Given the description of an element on the screen output the (x, y) to click on. 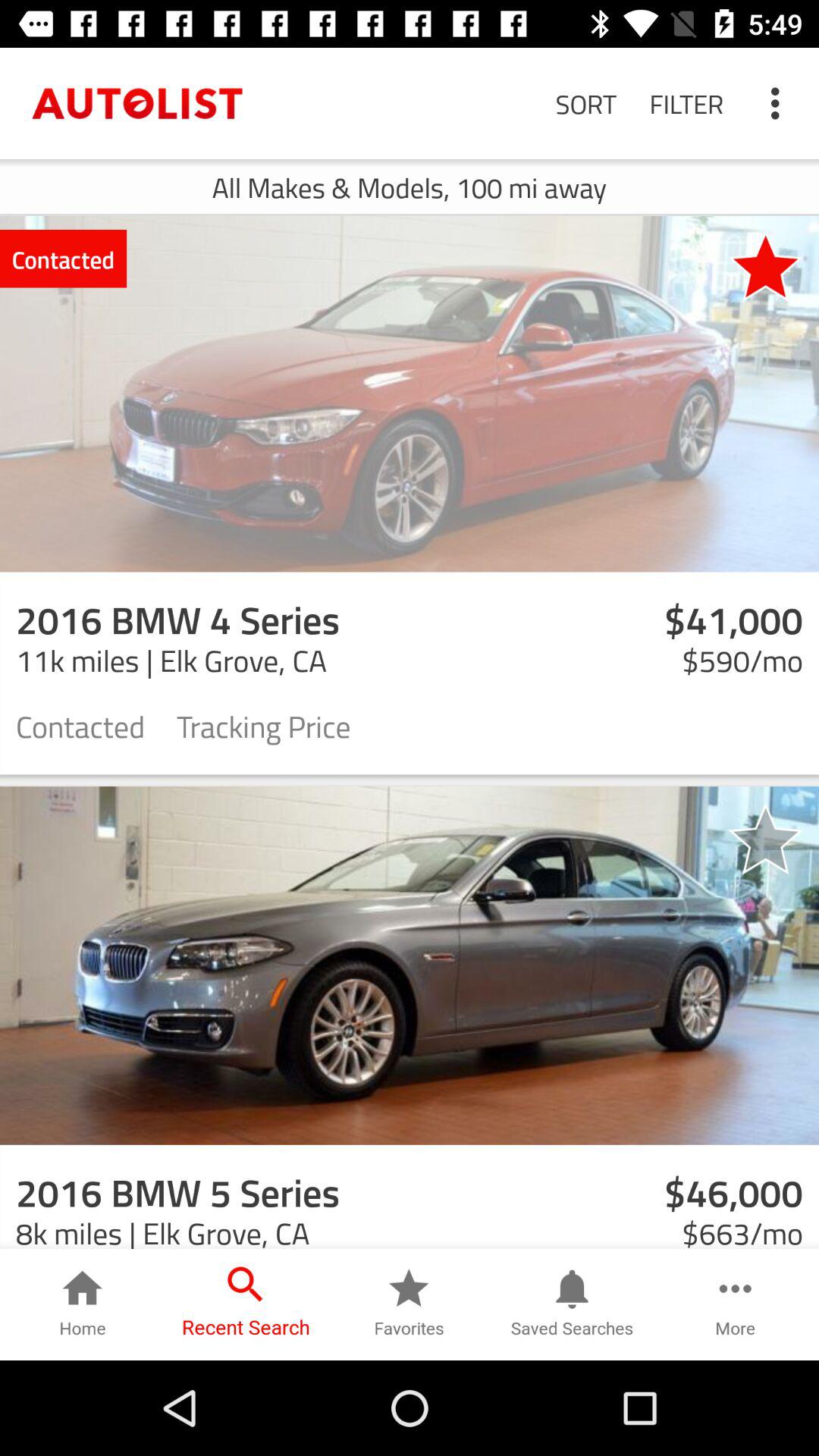
turn on icon to the right of contacted item (765, 265)
